Given the description of an element on the screen output the (x, y) to click on. 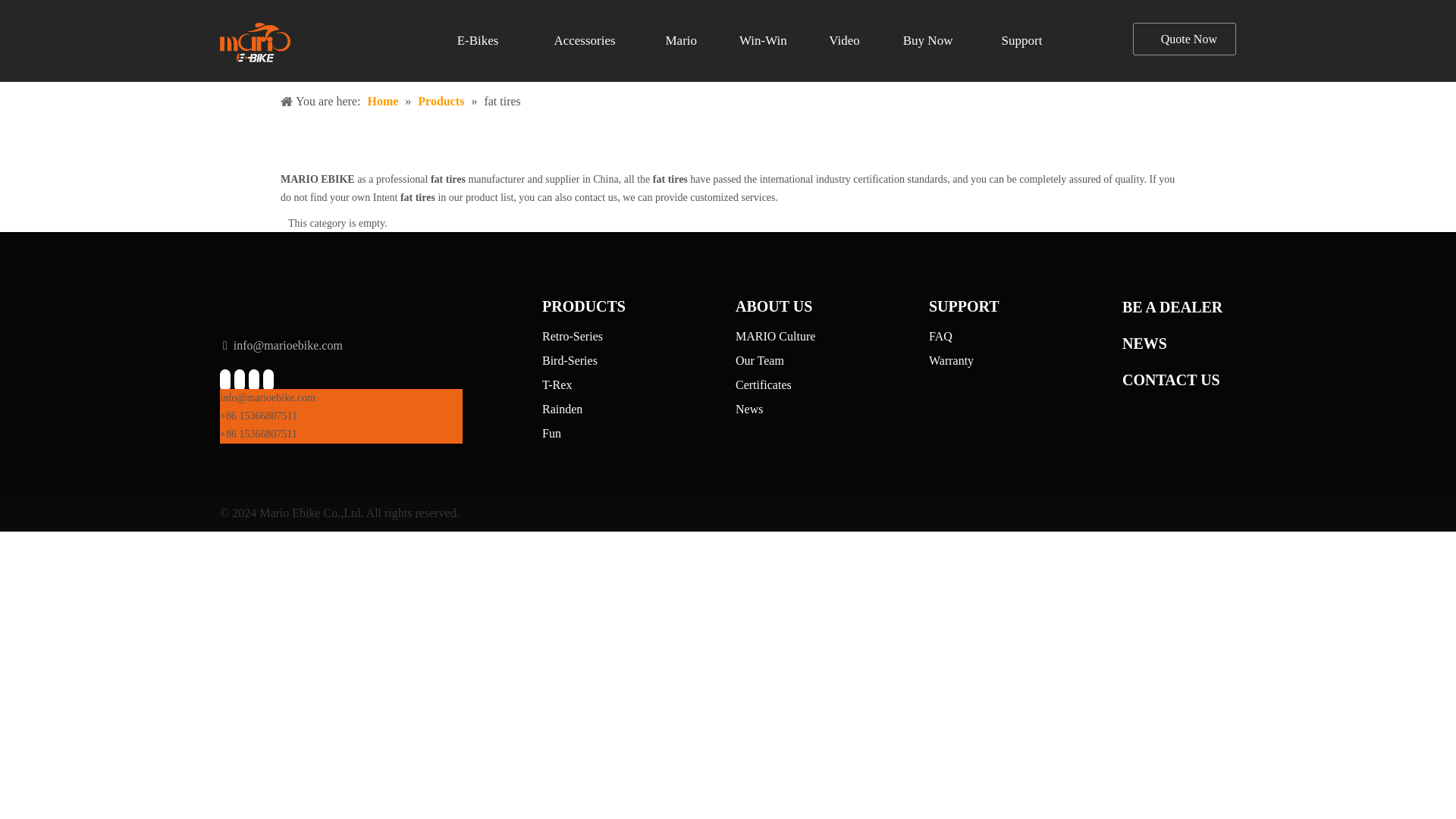
Facebook (224, 379)
Video (844, 40)
Retro-Series (571, 336)
E-Bikes (477, 40)
MARIO Culture (775, 336)
Accessories (584, 40)
Fun (550, 432)
Support (1021, 40)
tuceng (254, 42)
Certificates (763, 384)
